Given the description of an element on the screen output the (x, y) to click on. 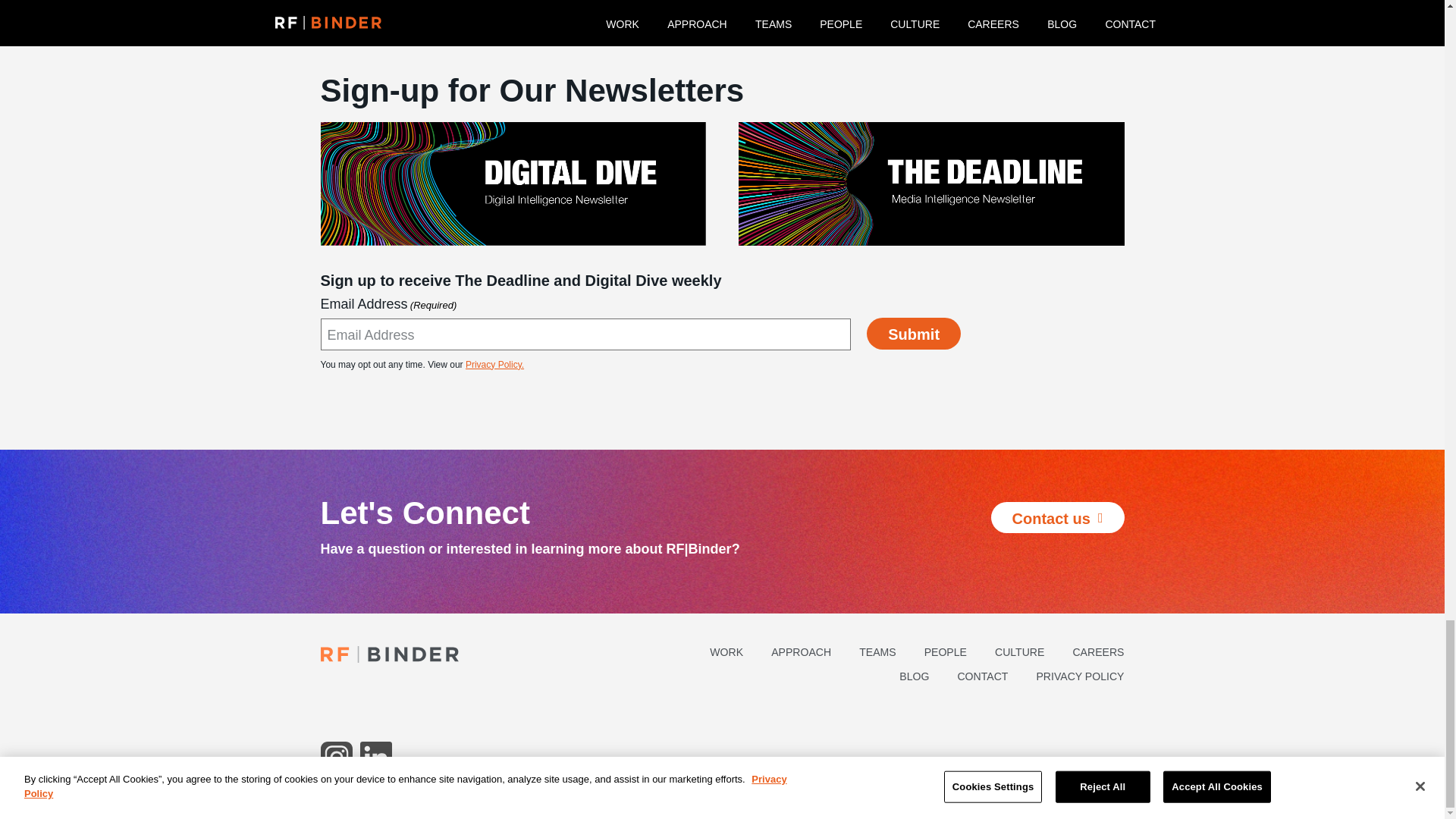
Submit (913, 333)
Privacy Policy. (494, 364)
Contact us (1057, 517)
Submit (913, 333)
